Given the description of an element on the screen output the (x, y) to click on. 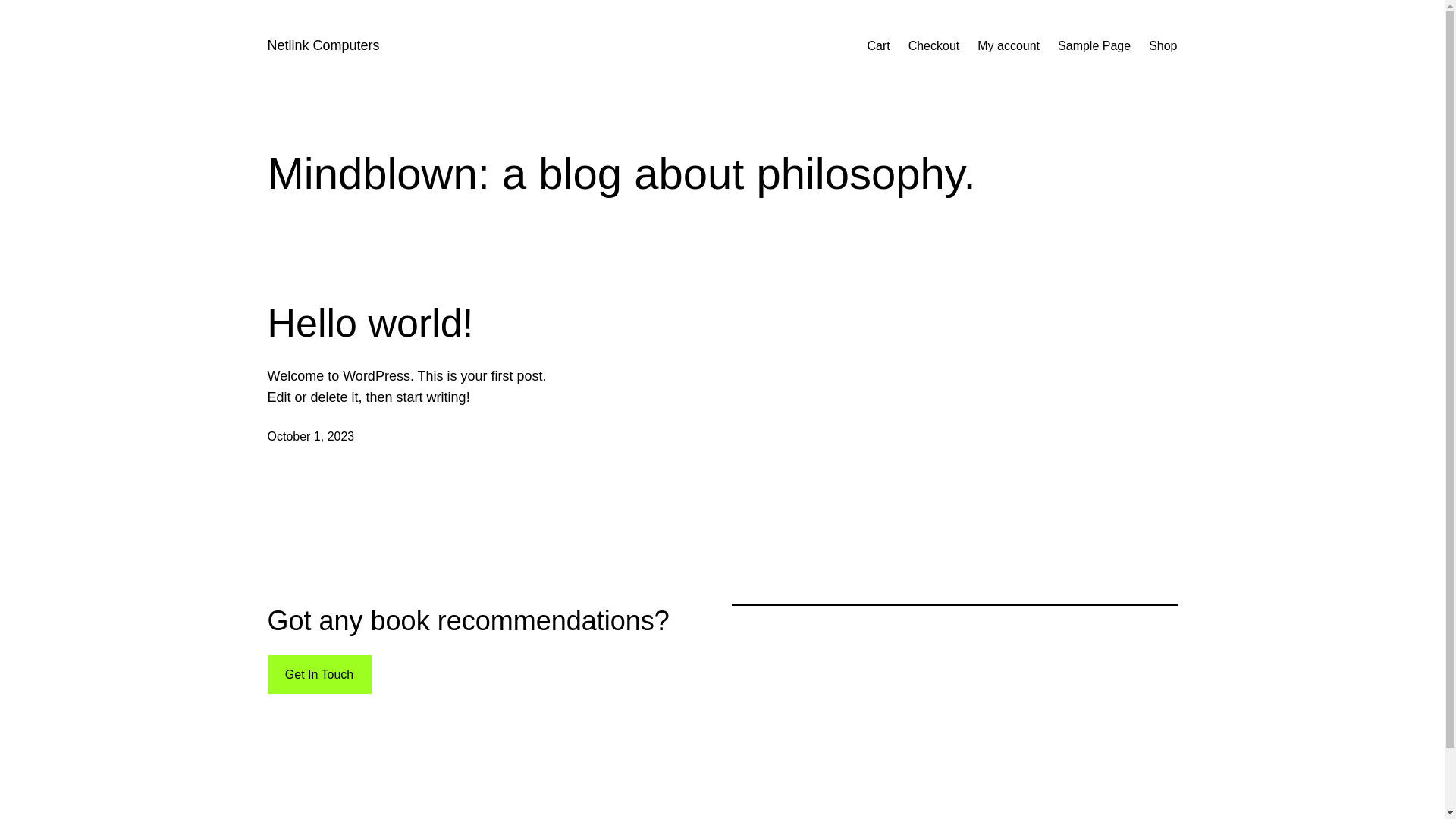
Get In Touch Element type: text (318, 674)
Hello world! Element type: text (369, 322)
Cart Element type: text (877, 46)
Shop Element type: text (1162, 46)
October 1, 2023 Element type: text (310, 435)
Checkout Element type: text (934, 46)
Netlink Computers Element type: text (322, 45)
My account Element type: text (1008, 46)
Sample Page Element type: text (1093, 46)
